Given the description of an element on the screen output the (x, y) to click on. 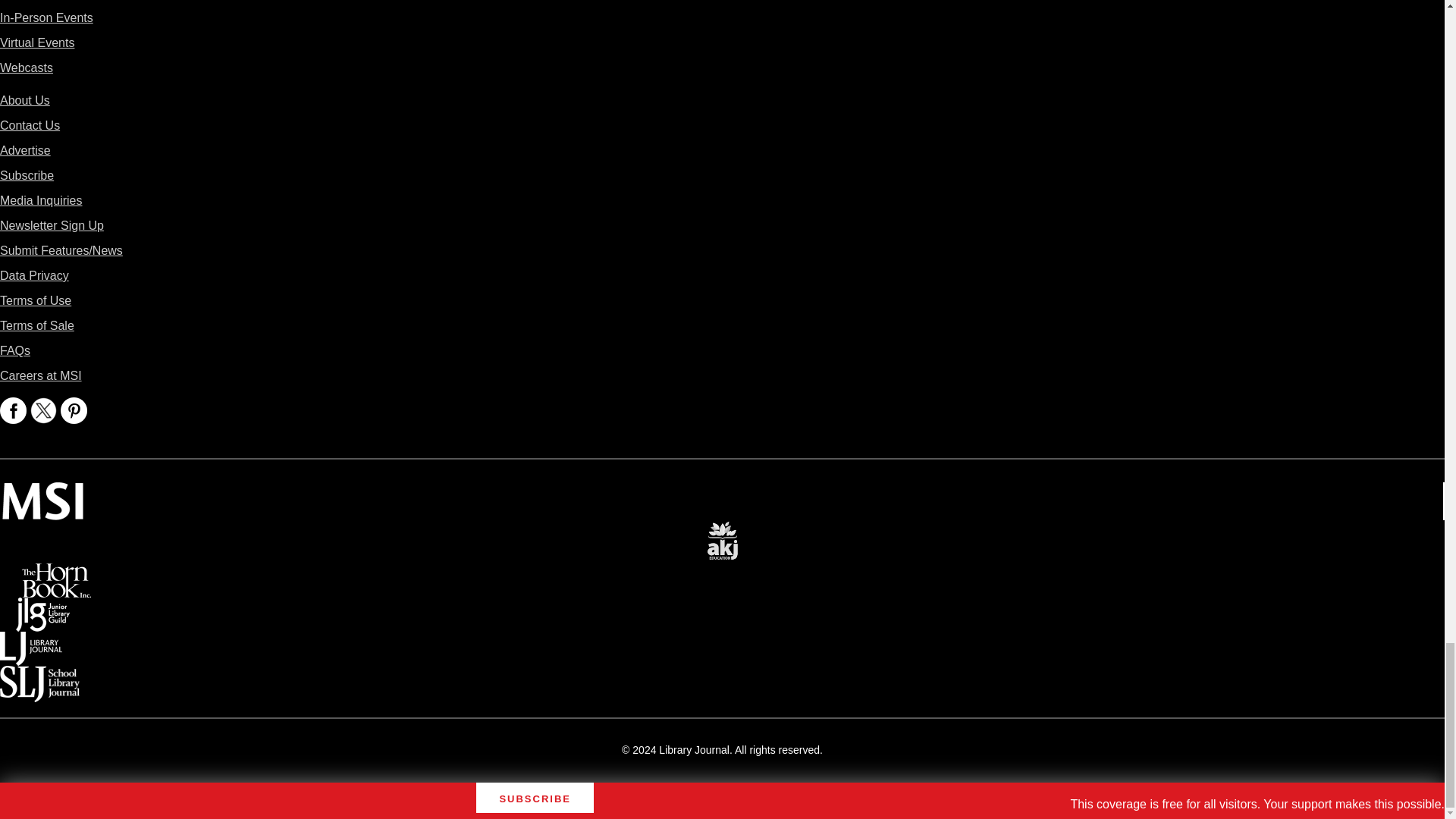
Junior Library Guild (42, 607)
School Library Journal (40, 676)
The Horn Book (56, 573)
AKJ (722, 530)
Media Source Incorporated (42, 492)
